Given the description of an element on the screen output the (x, y) to click on. 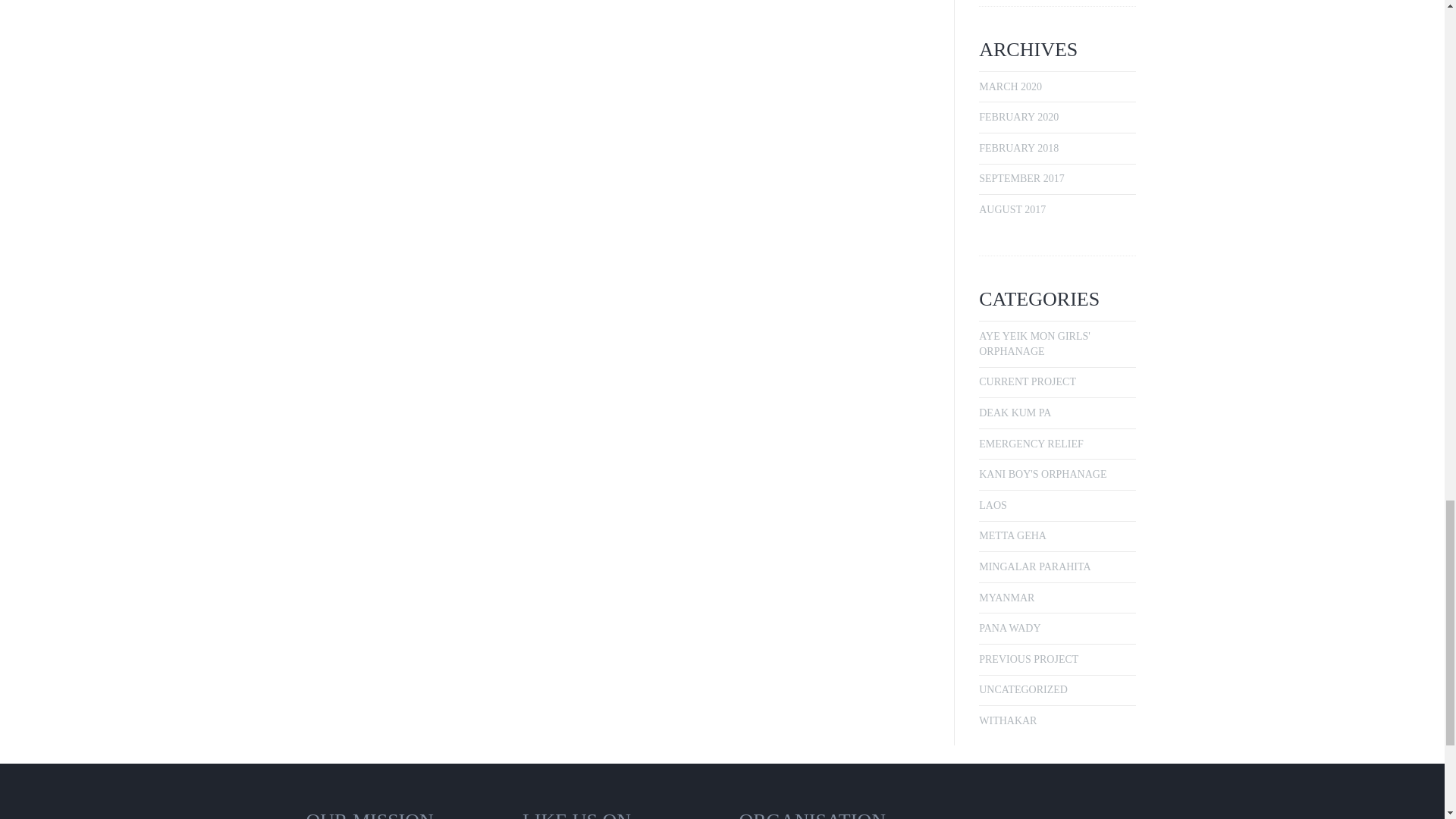
FEBRUARY 2020 (1018, 116)
AUGUST 2017 (1011, 209)
MARCH 2020 (1010, 86)
SEPTEMBER 2017 (1021, 178)
FEBRUARY 2018 (1018, 147)
